Given the description of an element on the screen output the (x, y) to click on. 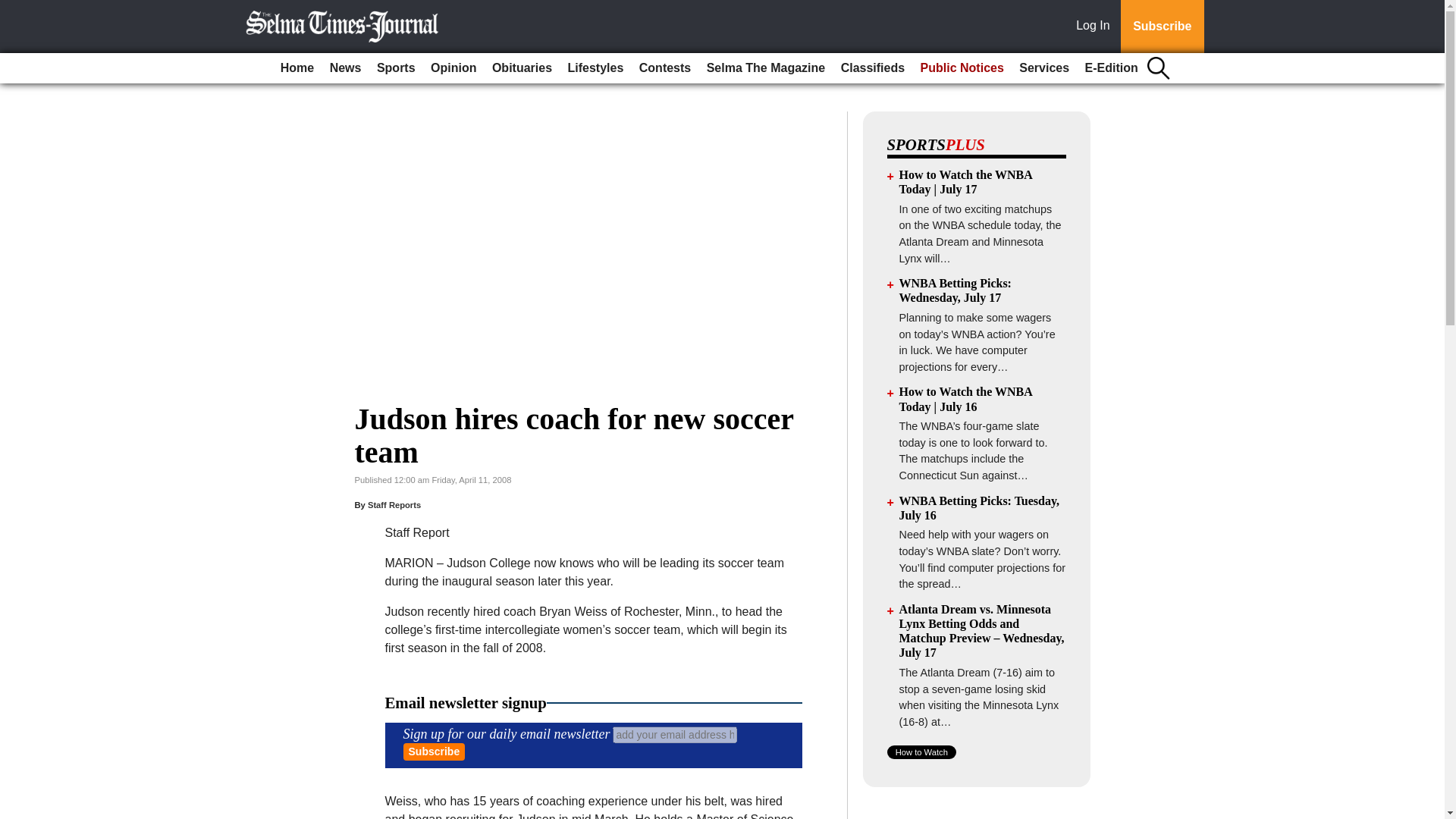
Selma The Magazine (765, 68)
Obituaries (521, 68)
Staff Reports (394, 504)
WNBA Betting Picks: Tuesday, July 16 (979, 507)
Go (13, 9)
How to Watch (921, 752)
Log In (1095, 26)
Lifestyles (596, 68)
WNBA Betting Picks: Wednesday, July 17 (955, 289)
Home (297, 68)
Services (1044, 68)
Subscribe (1162, 26)
Public Notices (962, 68)
Subscribe (434, 751)
E-Edition (1111, 68)
